Given the description of an element on the screen output the (x, y) to click on. 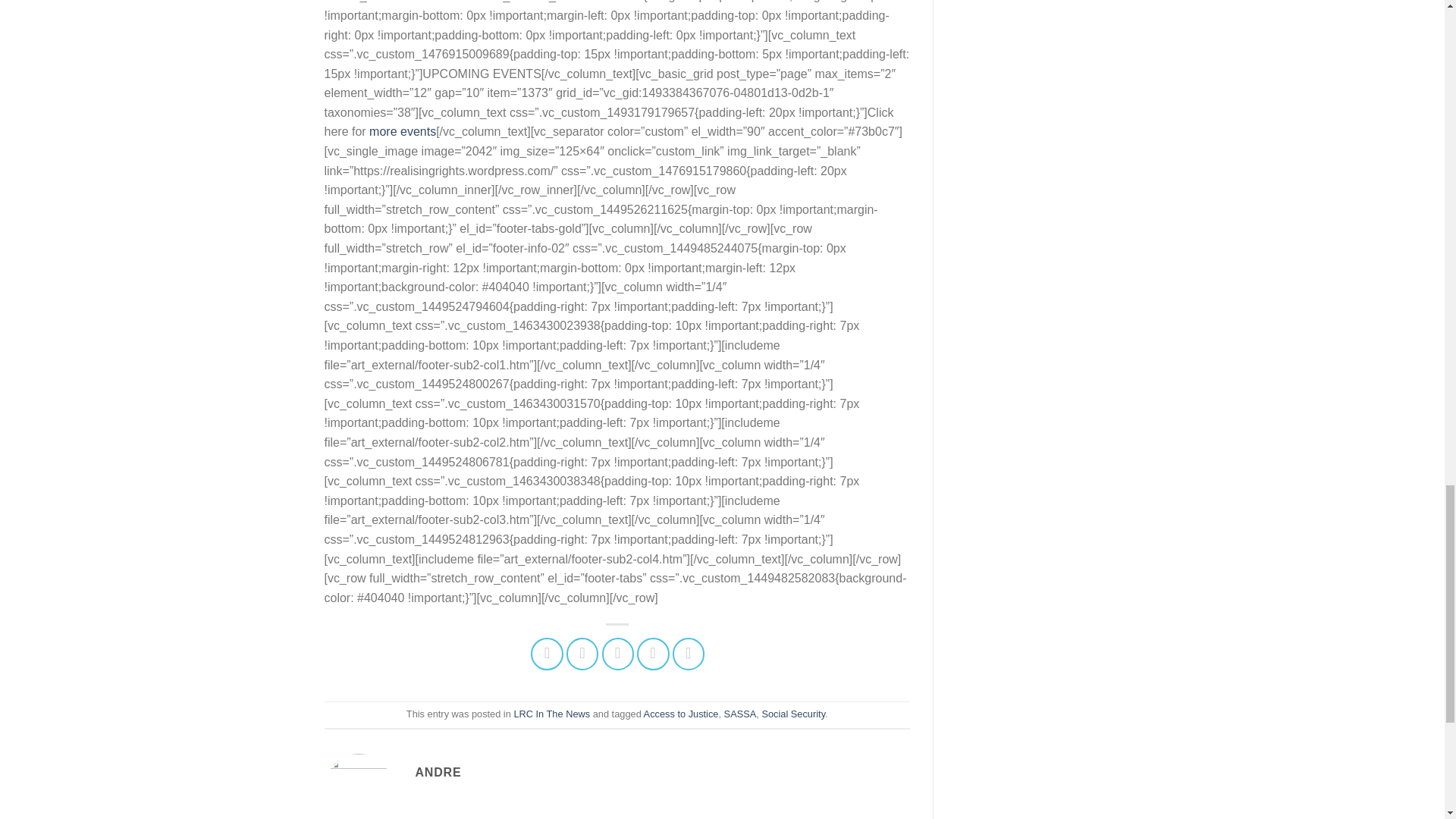
Email to a Friend (618, 654)
more events (402, 131)
LRC In The News (551, 713)
Access to Justice (681, 713)
Share on Twitter (582, 654)
SASSA (740, 713)
Share on Facebook (547, 654)
Pin on Pinterest (653, 654)
Share on LinkedIn (688, 654)
Social Security (793, 713)
